Given the description of an element on the screen output the (x, y) to click on. 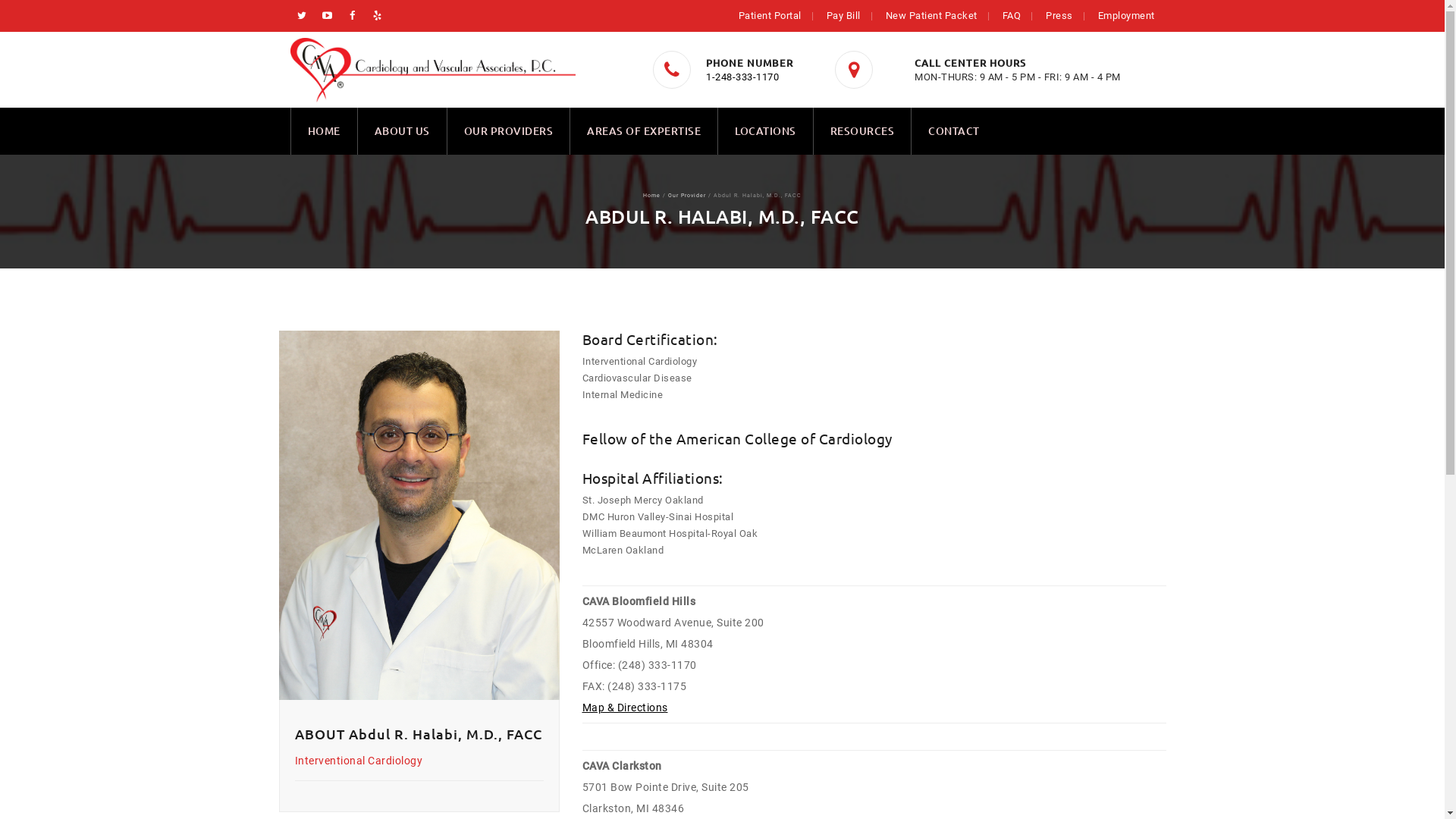
Interventional Cardiology Element type: text (358, 760)
Pay Bill Element type: text (843, 15)
HOME Element type: text (324, 130)
1-248-333-1170 Element type: text (742, 76)
Employment Element type: text (1126, 15)
FAQ Element type: text (1011, 15)
Cardiology and Vascular Associates Element type: hover (432, 69)
Skip to content Element type: text (289, 107)
ABOUT US Element type: text (401, 130)
Map & Directions Element type: text (625, 707)
AREAS OF EXPERTISE Element type: text (643, 130)
New Patient Packet Element type: text (931, 15)
Press Element type: text (1059, 15)
RESOURCES Element type: text (861, 130)
LOCATIONS Element type: text (765, 130)
Our Provider Element type: text (687, 195)
OUR PROVIDERS Element type: text (508, 130)
Patient Portal Element type: text (769, 15)
Home Element type: text (651, 195)
CONTACT Element type: text (953, 130)
